Given the description of an element on the screen output the (x, y) to click on. 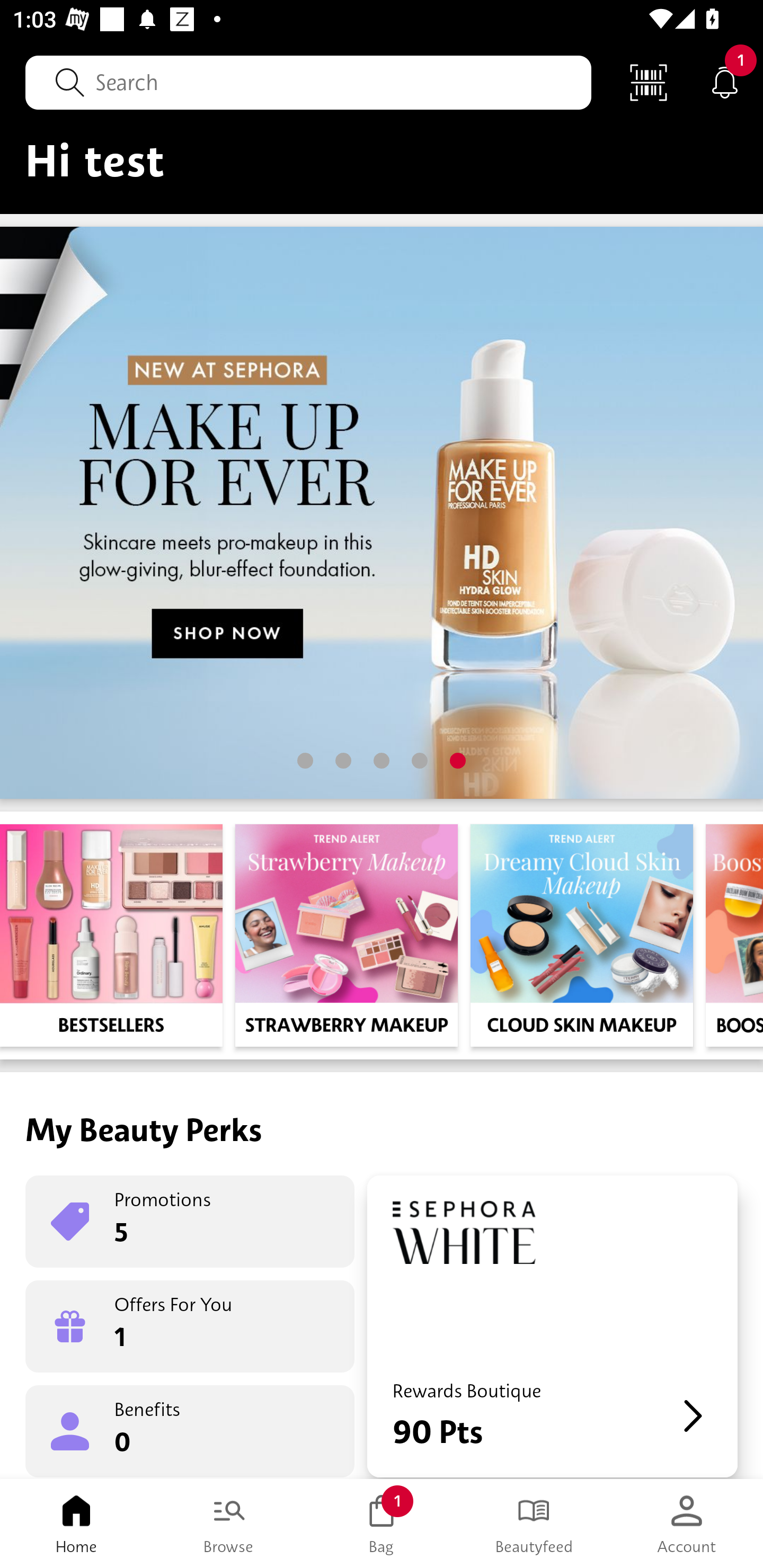
Scan Code (648, 81)
Notifications (724, 81)
Search (308, 81)
Promotions 5 (189, 1221)
Rewards Boutique 90 Pts (552, 1326)
Offers For You 1 (189, 1326)
Benefits 0 (189, 1430)
Browse (228, 1523)
Bag 1 Bag (381, 1523)
Beautyfeed (533, 1523)
Account (686, 1523)
